Given the description of an element on the screen output the (x, y) to click on. 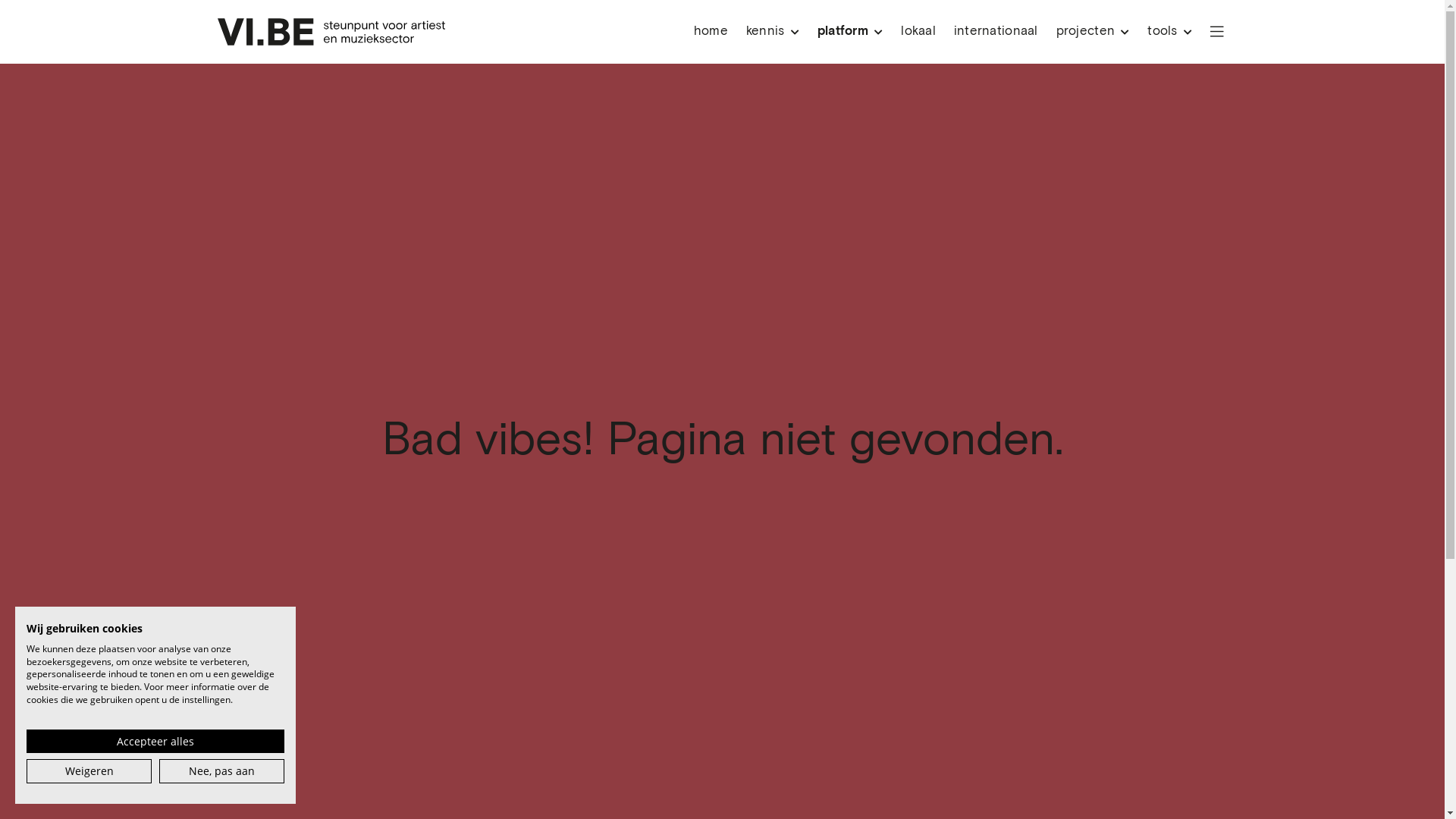
Accepteer alles Element type: text (155, 741)
Menu Element type: hover (1217, 31)
internationaal Element type: text (995, 31)
home Element type: text (710, 31)
Nee, pas aan Element type: text (221, 771)
VI.BE Element type: hover (331, 31)
lokaal Element type: text (917, 31)
Weigeren Element type: text (88, 771)
